Given the description of an element on the screen output the (x, y) to click on. 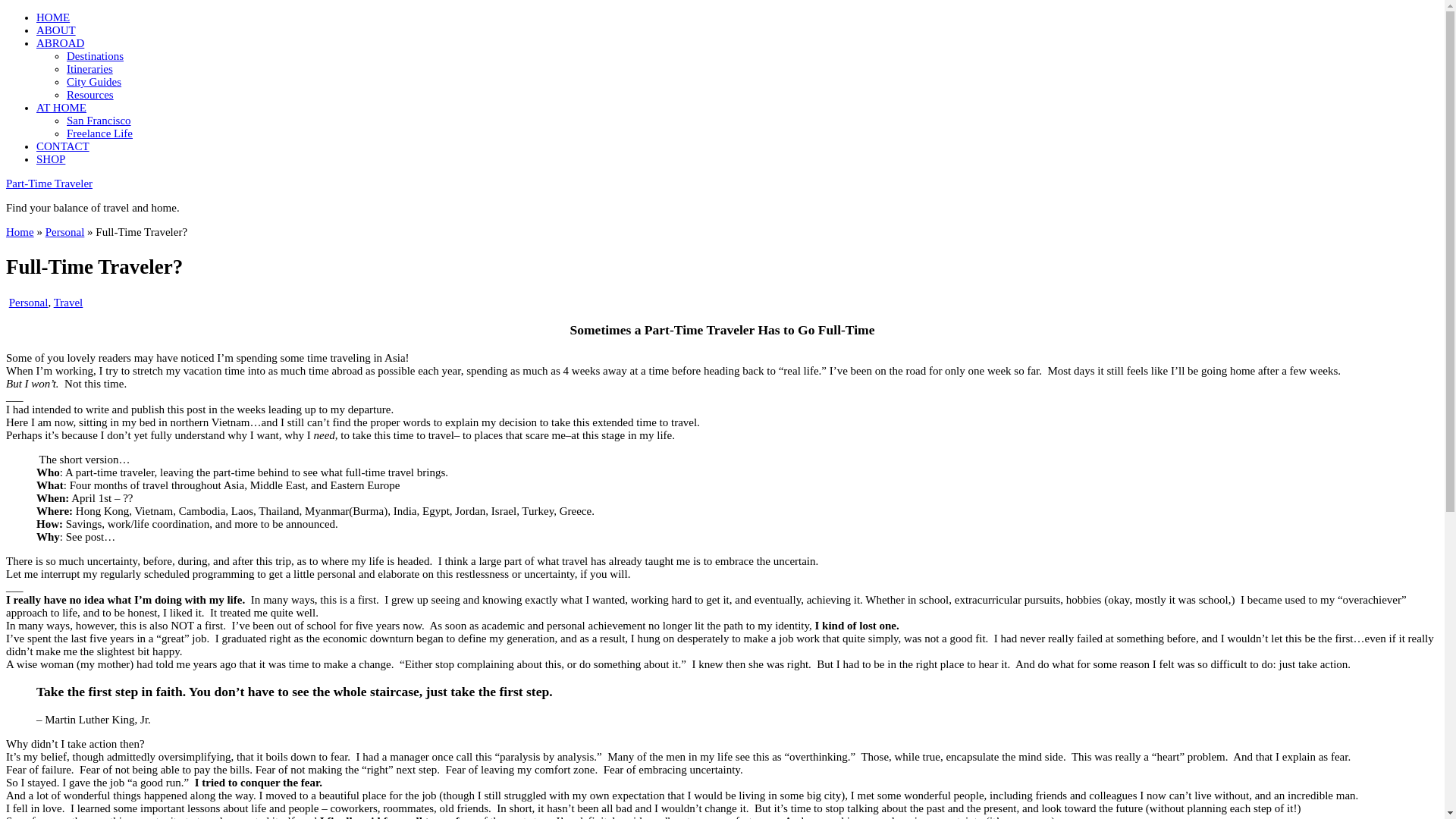
Itineraries (89, 69)
Personal (64, 232)
ABROAD (60, 42)
SHOP (50, 159)
San Francisco (98, 120)
ABOUT (55, 30)
Freelance Life (99, 133)
Resources (89, 94)
City Guides (93, 81)
Travel (67, 302)
Part-Time Traveler (49, 183)
Home (19, 232)
AT HOME (60, 107)
CONTACT (62, 146)
HOME (52, 17)
